Given the description of an element on the screen output the (x, y) to click on. 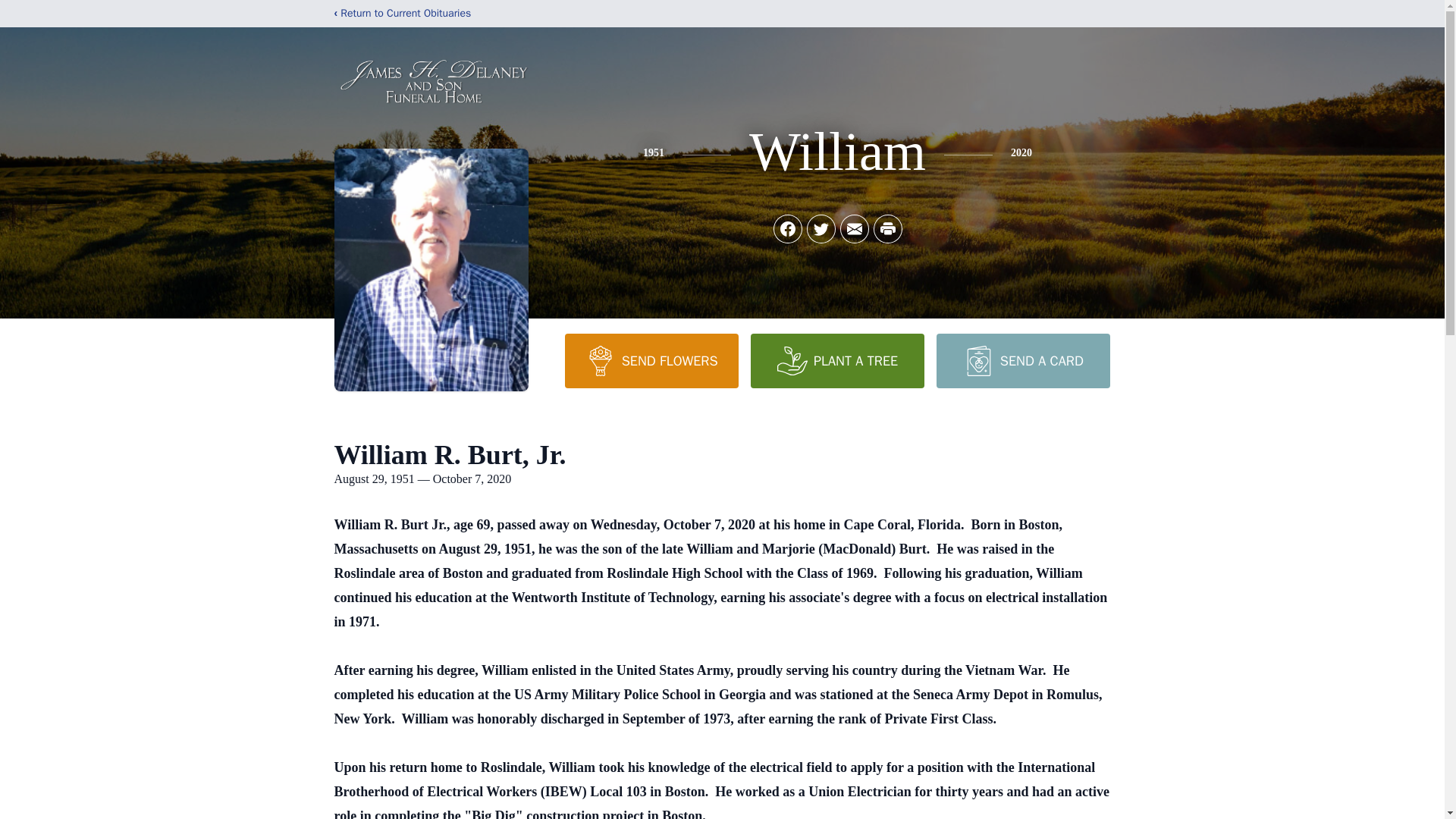
SEND A CARD (1022, 360)
SEND FLOWERS (651, 360)
PLANT A TREE (837, 360)
